Given the description of an element on the screen output the (x, y) to click on. 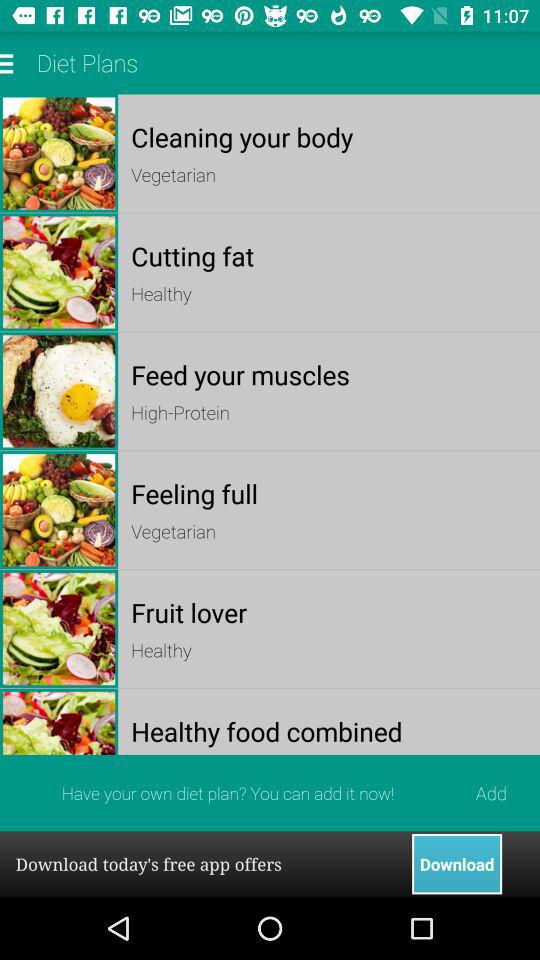
jump to the feed your muscles item (328, 374)
